Given the description of an element on the screen output the (x, y) to click on. 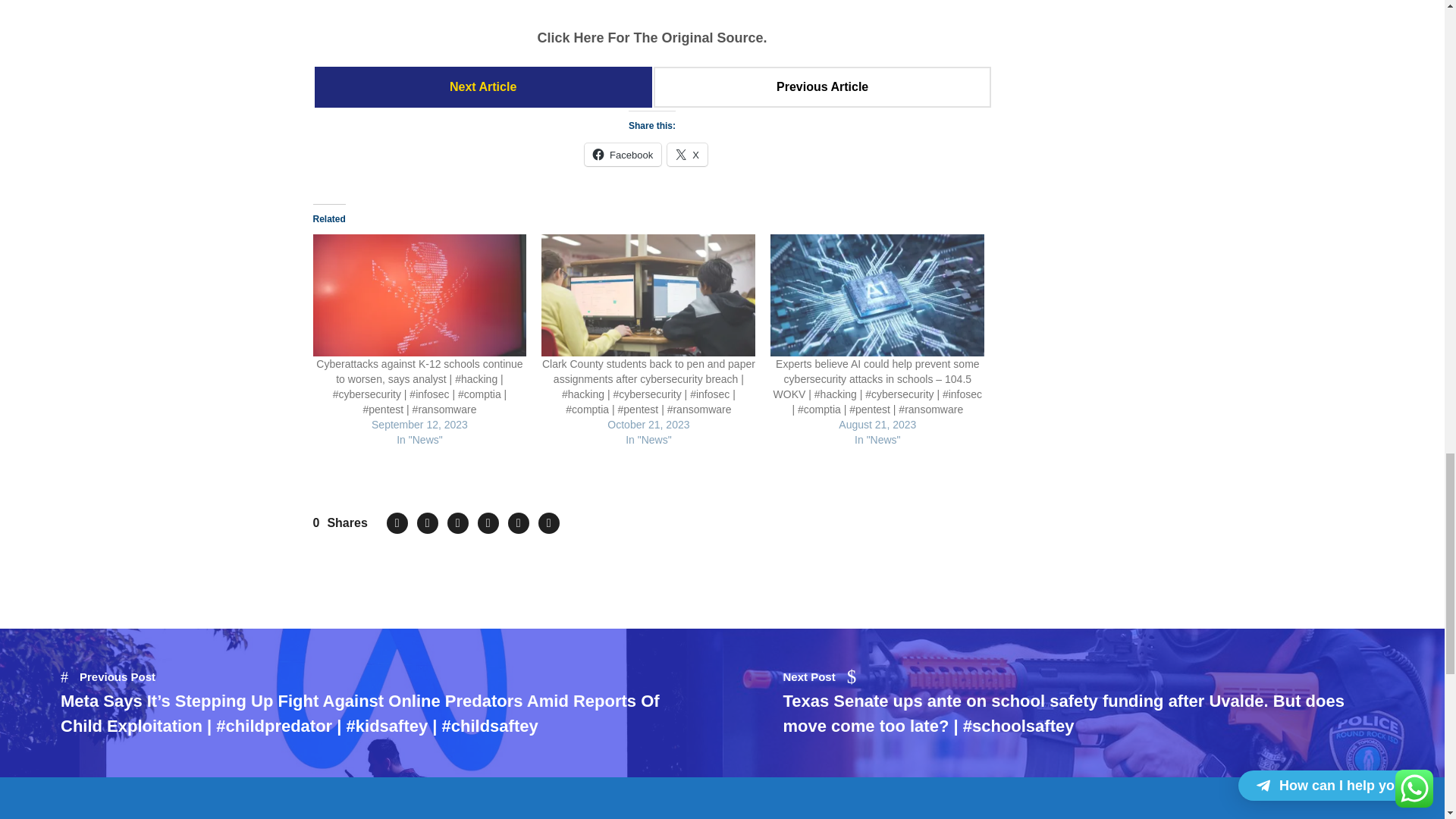
Click to share on Facebook (623, 154)
Click to share on X (686, 154)
